Given the description of an element on the screen output the (x, y) to click on. 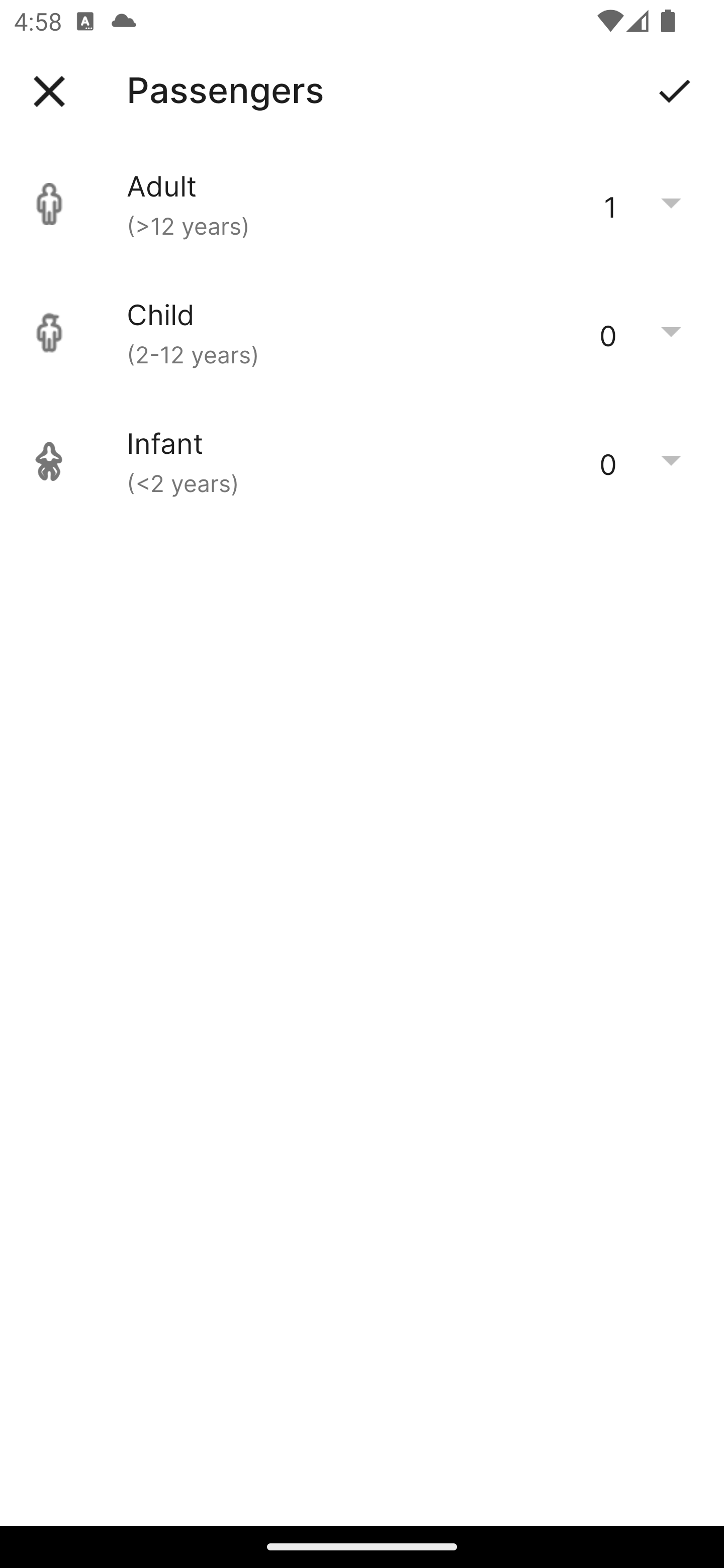
Adult (>12 years) 1 (362, 204)
Child (2-12 years) 0 (362, 332)
Infant (<2 years) 0 (362, 461)
